Given the description of an element on the screen output the (x, y) to click on. 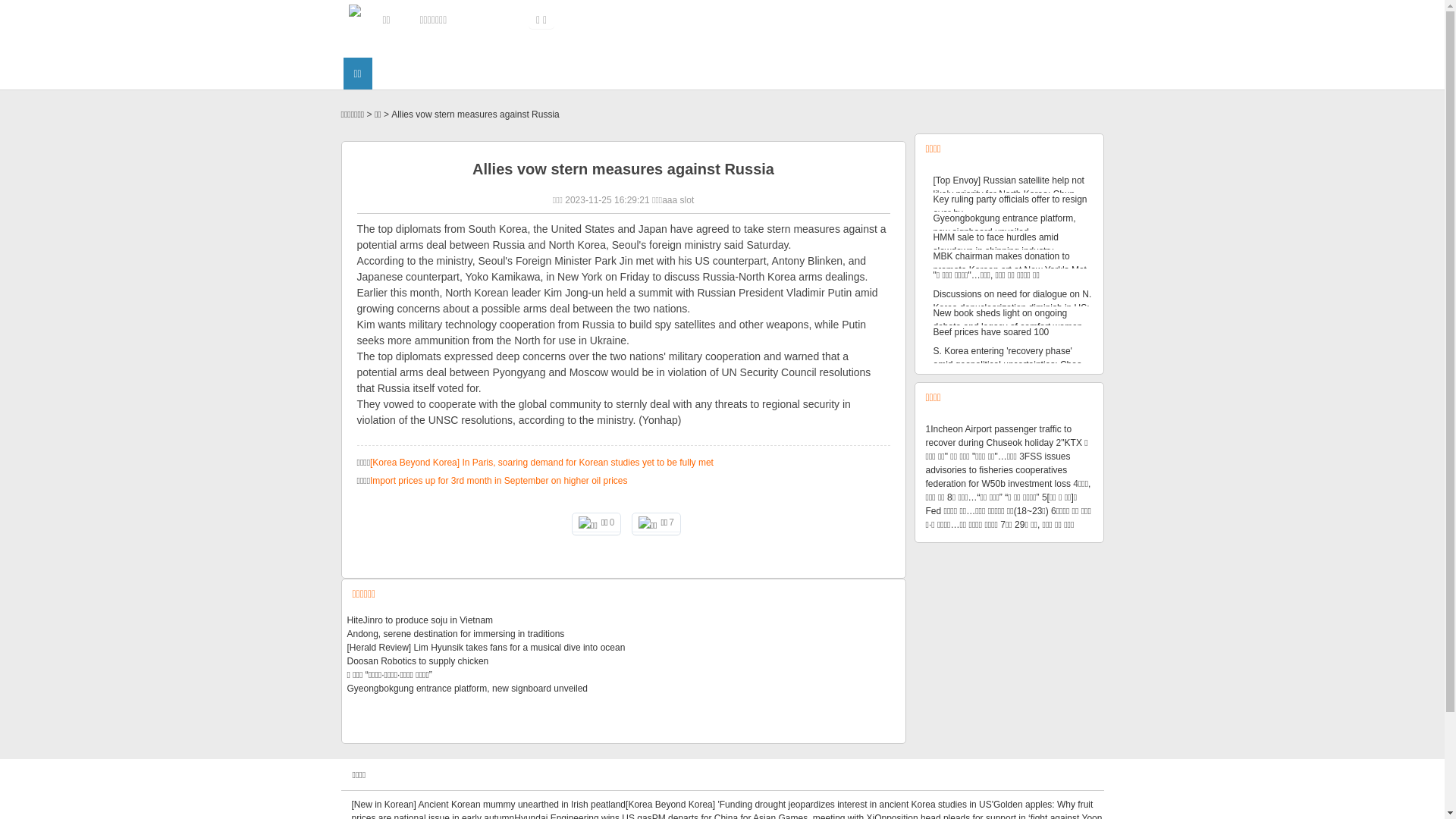
Doosan Robotics to supply chicken Element type: text (418, 660)
Beef prices have soared 100 Element type: text (990, 331)
HiteJinro to produce soju in Vietnam Element type: text (420, 620)
Andong, serene destination for immersing in traditions Element type: text (455, 633)
Gyeongbokgung entrance platform, new signboard unveiled Element type: text (1003, 225)
Gyeongbokgung entrance platform, new signboard unveiled Element type: text (467, 688)
HMM sale to face hurdles amid slowdown in shipping industry Element type: text (994, 244)
Allies vow stern measures against Russia Element type: text (474, 114)
Key ruling party officials offer to resign over by Element type: text (1009, 206)
aaa slot Element type: text (677, 199)
